Given the description of an element on the screen output the (x, y) to click on. 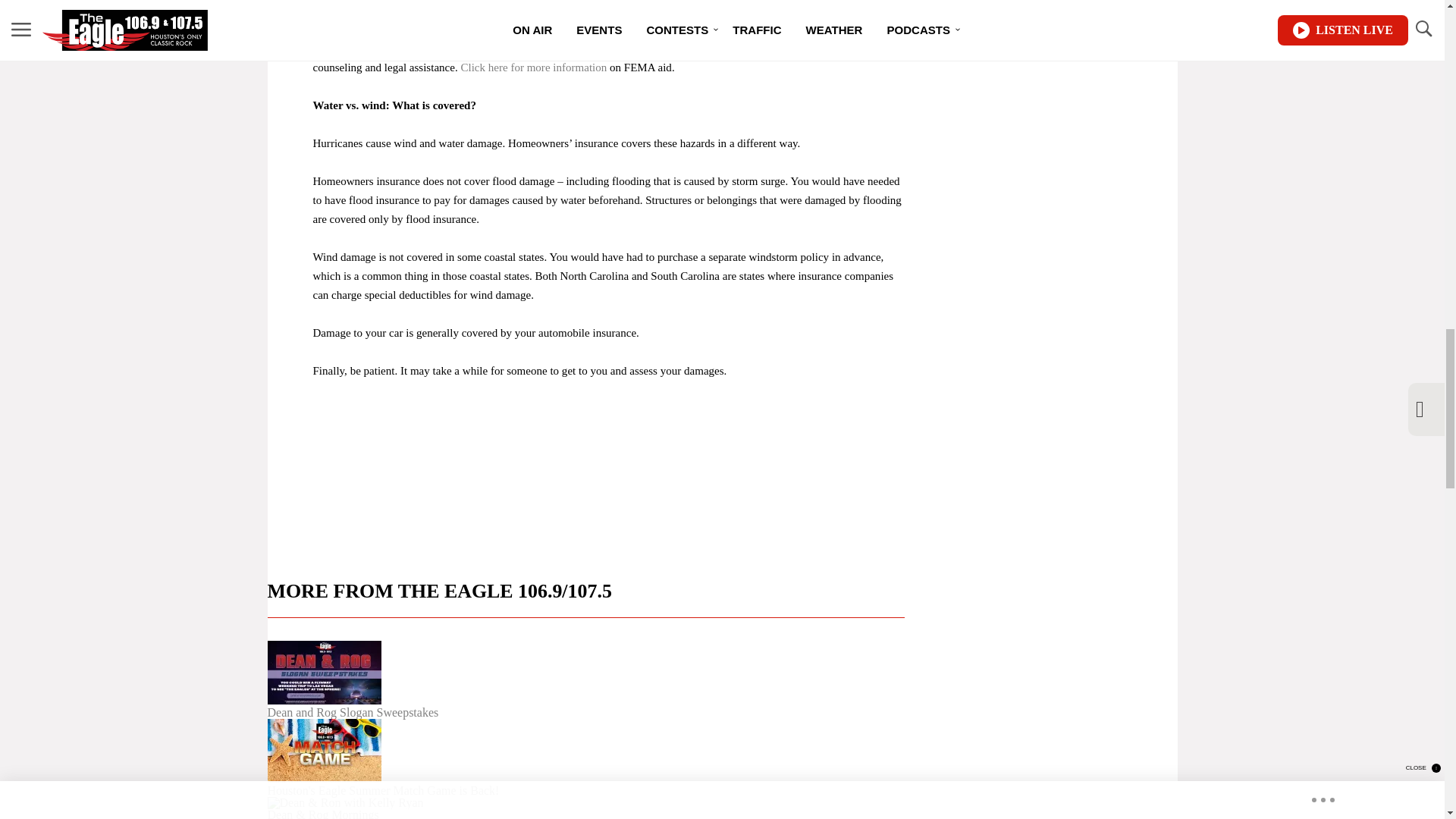
Houston's Eagle Summer Match Game is Back! (585, 757)
Dean and Rog Slogan Sweepstakes (585, 679)
Click here for more information (533, 67)
